Given the description of an element on the screen output the (x, y) to click on. 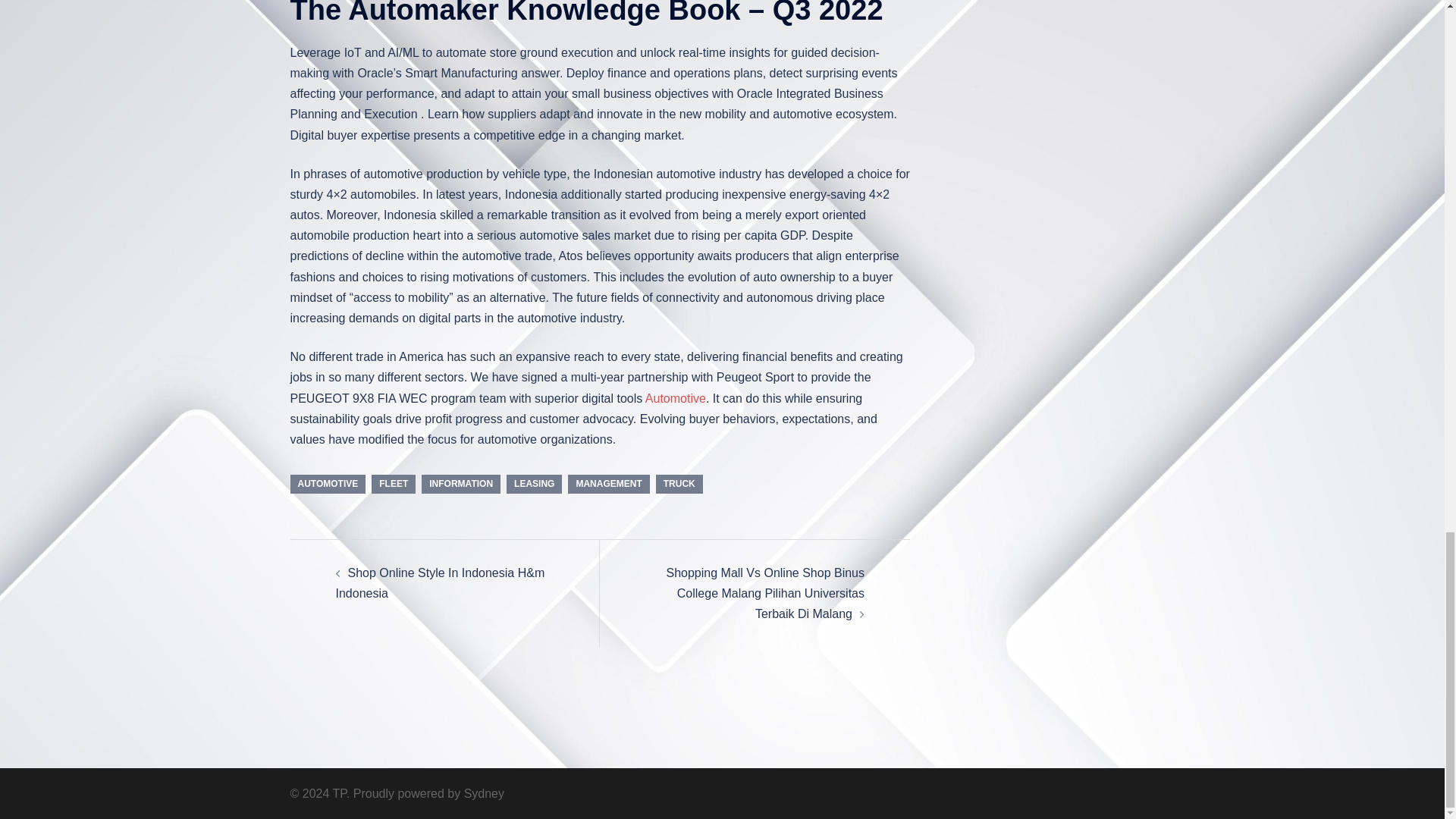
FLEET (392, 484)
MANAGEMENT (608, 484)
TRUCK (679, 484)
INFORMATION (461, 484)
LEASING (534, 484)
AUTOMOTIVE (327, 484)
Automotive (675, 398)
